Given the description of an element on the screen output the (x, y) to click on. 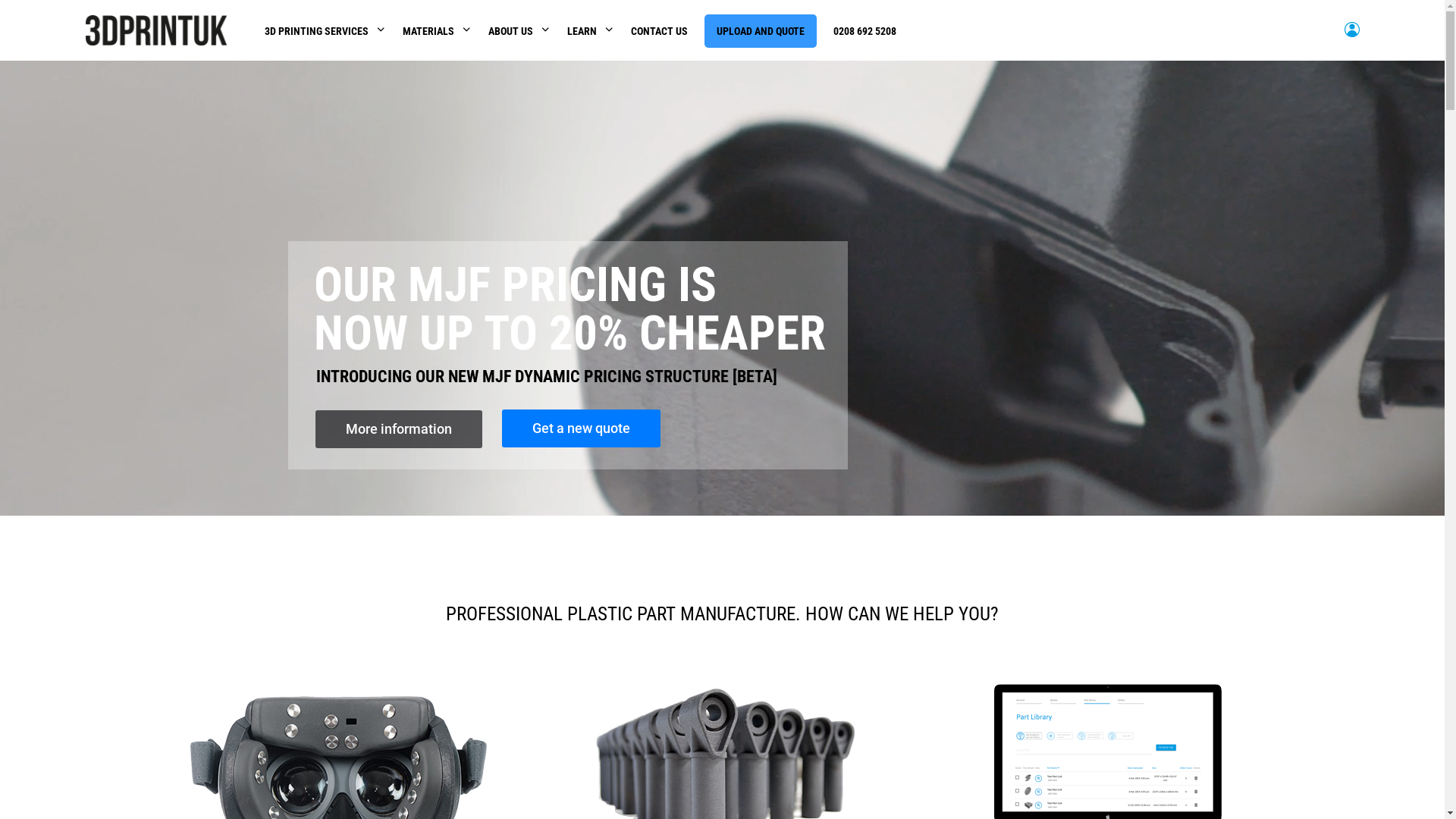
CONTACT US Element type: text (659, 30)
3D PRINTING SERVICES Element type: text (316, 30)
ABOUT US Element type: text (510, 30)
MATERIALS Element type: text (428, 30)
UPLOAD AND QUOTE Element type: text (760, 30)
LEARN Element type: text (581, 30)
First fully certified, carbon-neutral 3D printing bureau Element type: text (719, 434)
0208 692 5208 Element type: text (864, 30)
